Given the description of an element on the screen output the (x, y) to click on. 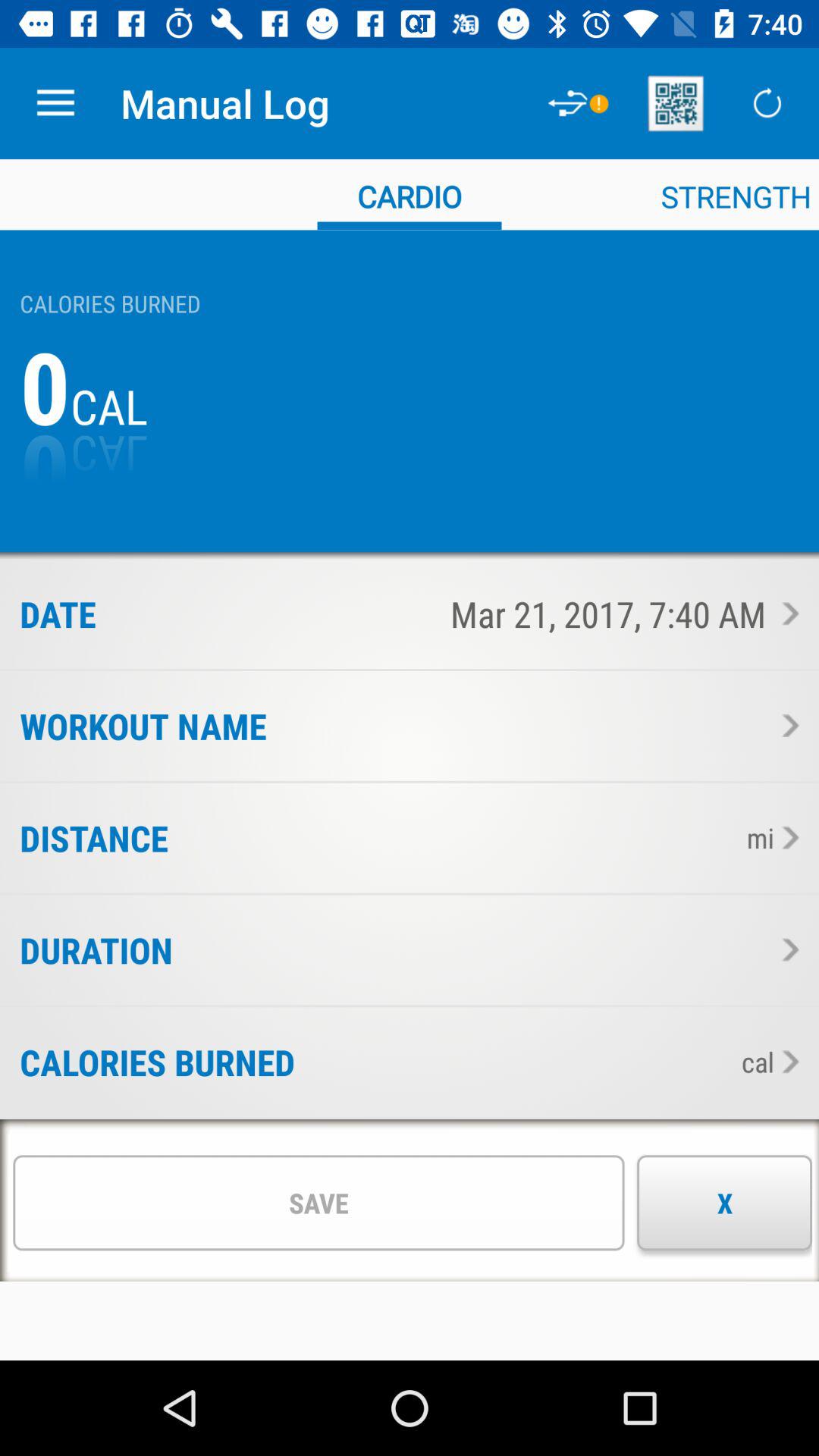
flip to mar 21 2017 item (447, 613)
